Given the description of an element on the screen output the (x, y) to click on. 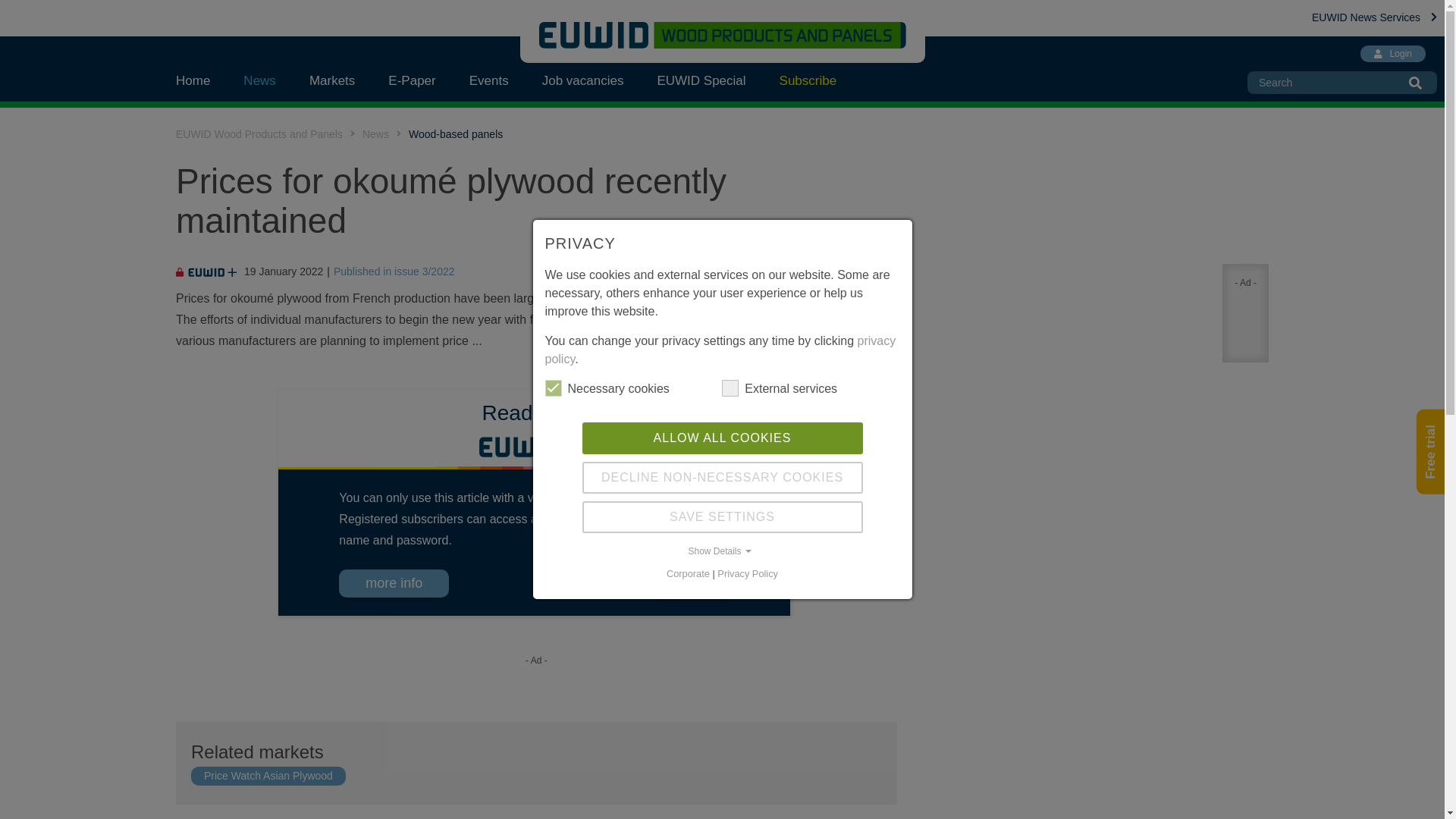
Login (691, 583)
EUWID News Services (1374, 17)
Markets (331, 80)
EUWID Special (700, 80)
Job vacancies (582, 80)
Wood-based panels (455, 133)
News (259, 80)
Home (201, 80)
EUWID Wood Products and Panels (259, 133)
more info (393, 583)
Price Watch Asian Plywood (268, 775)
E-Paper (411, 80)
Events (488, 80)
Login (1392, 53)
News (375, 133)
